Given the description of an element on the screen output the (x, y) to click on. 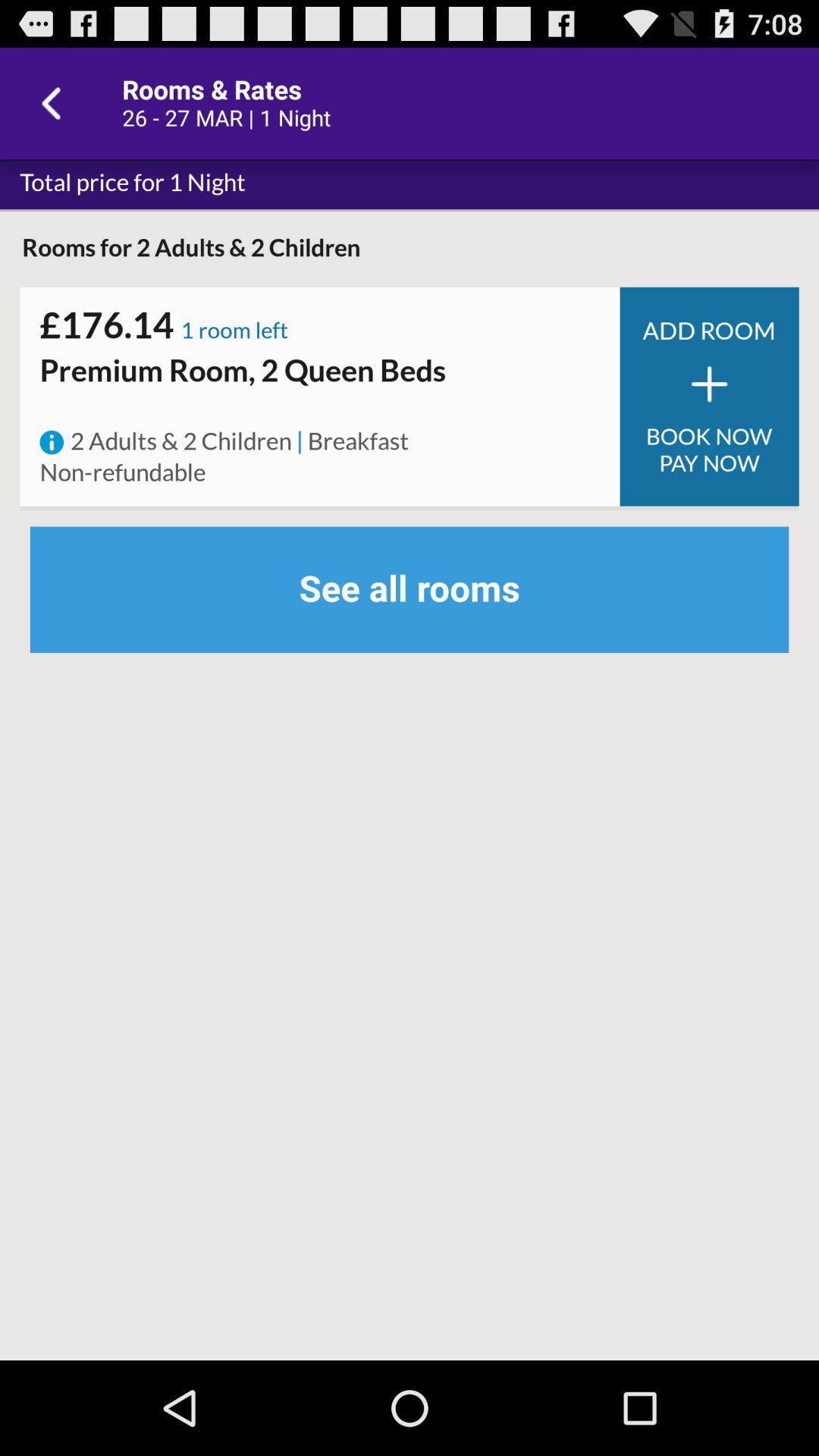
scroll until book now pay (708, 450)
